Given the description of an element on the screen output the (x, y) to click on. 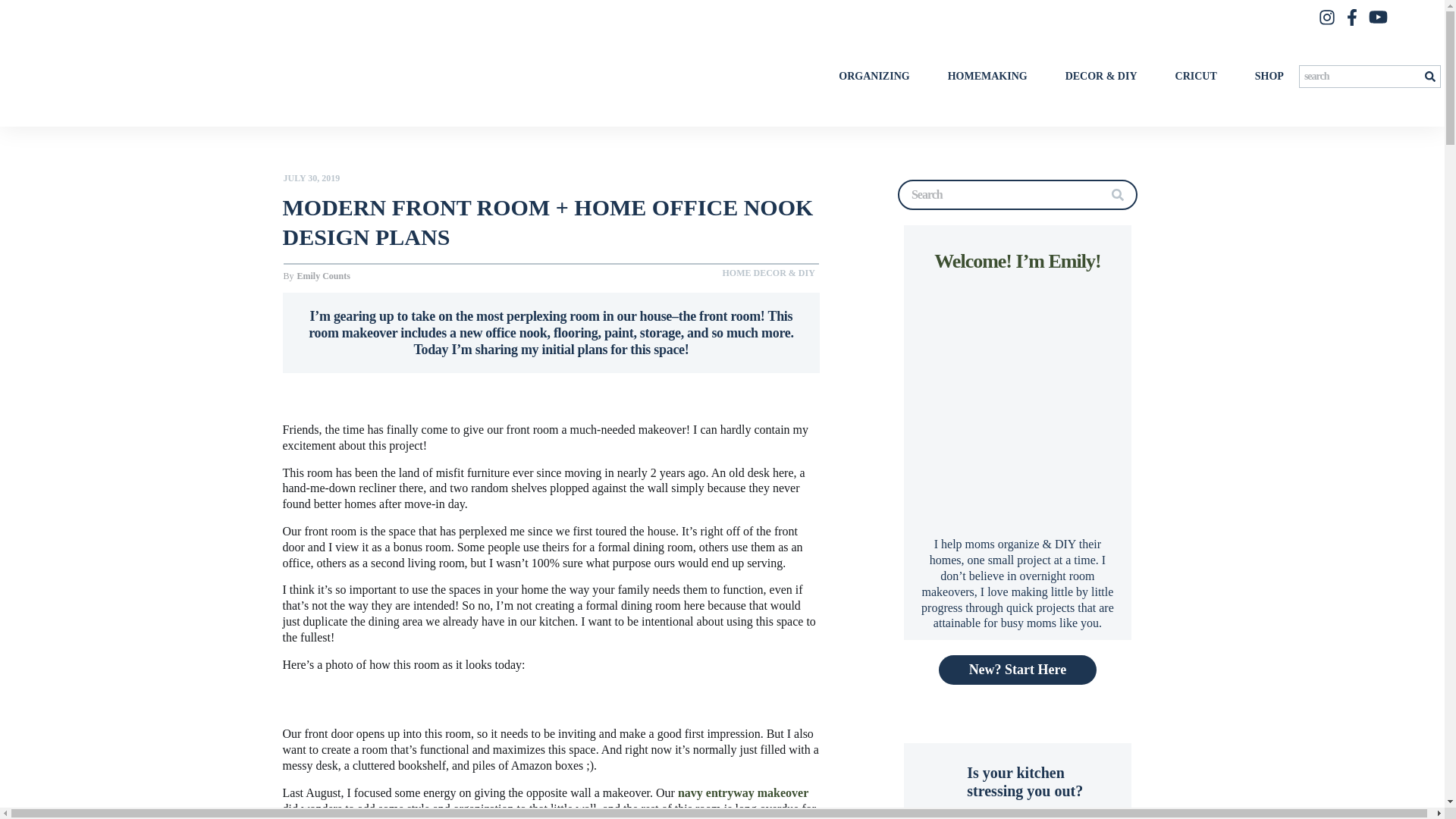
ORGANIZING (873, 76)
navy entryway makeover (743, 792)
Emily Counts (323, 276)
HOMEMAKING (987, 76)
SHOP (1269, 76)
CRICUT (1195, 76)
